Given the description of an element on the screen output the (x, y) to click on. 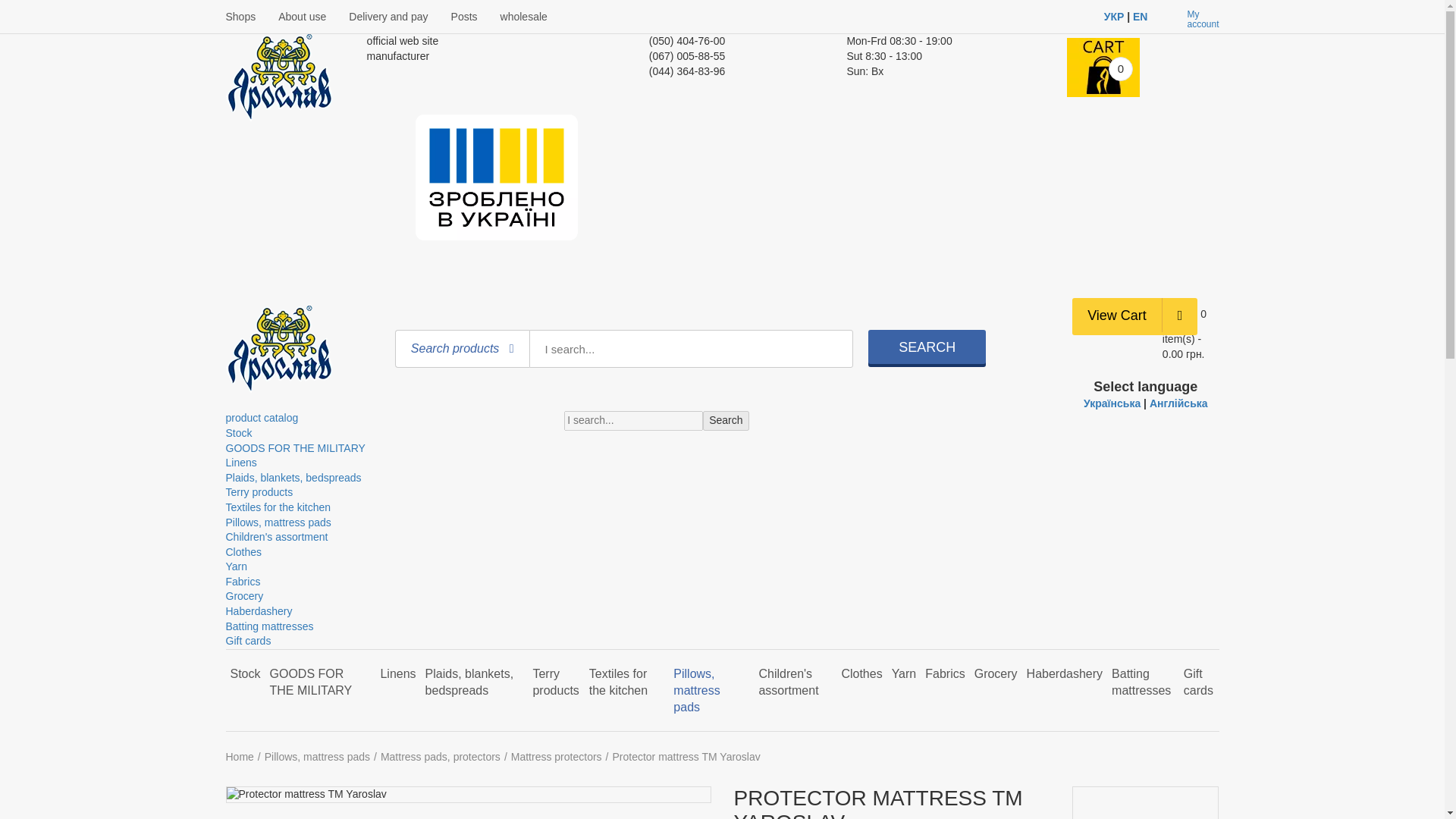
Grocery (244, 595)
Yarn (236, 566)
Plaids, blankets, bedspreads (293, 477)
Stock (238, 432)
Fabrics (242, 581)
View Cart (1116, 315)
Delivery and pay (388, 16)
Protector mattress TM Yaroslav (305, 794)
Batting mattresses (269, 625)
SEARCH (926, 346)
